Given the description of an element on the screen output the (x, y) to click on. 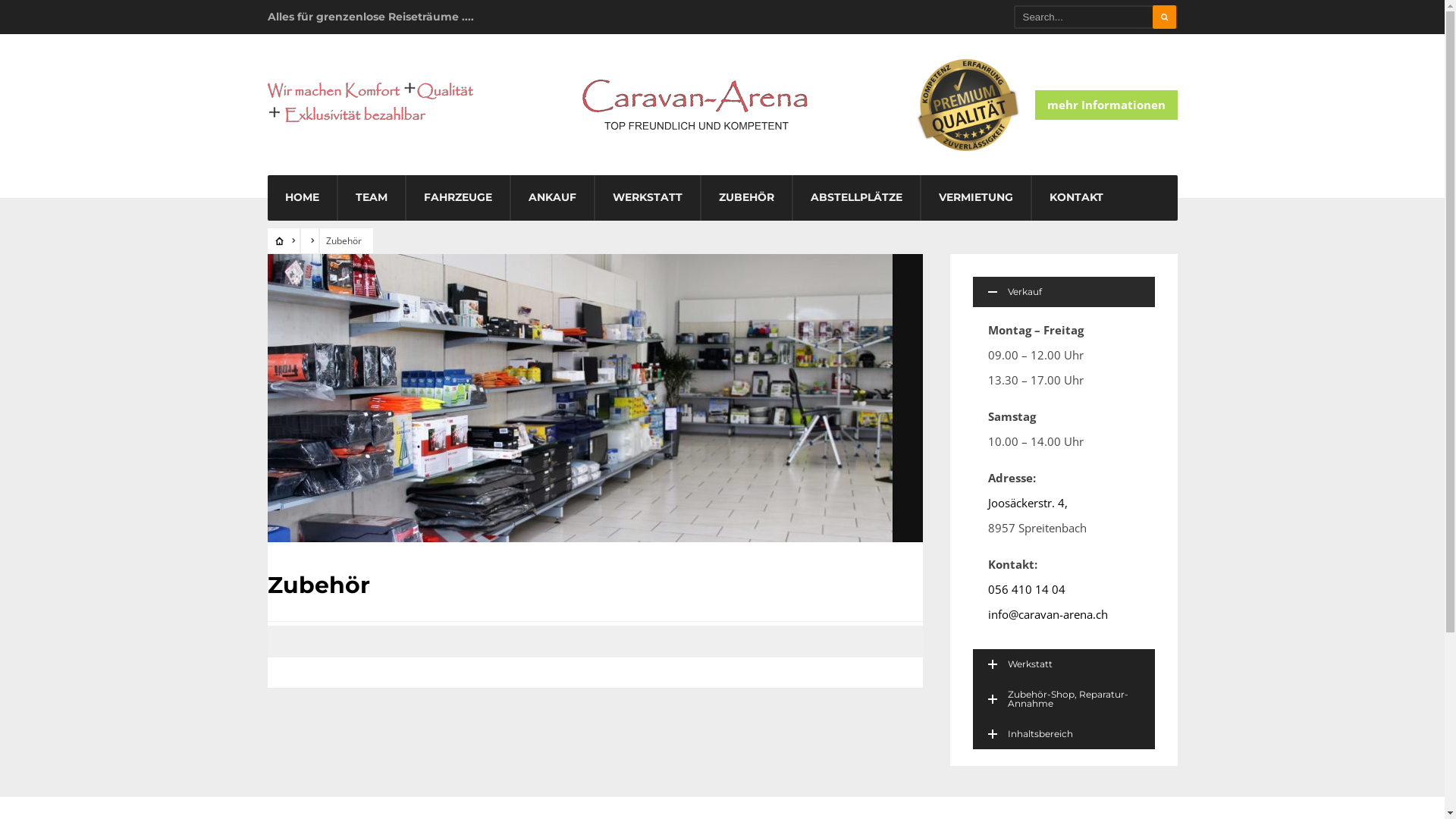
056 410 14 04 Element type: text (1025, 588)
KONTAKT Element type: text (1076, 197)
FAHRZEUGE Element type: text (457, 197)
WERKSTATT Element type: text (647, 197)
ANKAUF Element type: text (551, 197)
Inhaltsbereich Element type: text (1063, 733)
VERMIETUNG Element type: text (975, 197)
mehr Informationen Element type: text (1105, 104)
TEAM Element type: text (370, 197)
HOME Element type: text (302, 197)
info@caravan-arena.ch Element type: text (1047, 613)
Werkstatt Element type: text (1063, 664)
Verkauf Element type: text (1063, 291)
